Given the description of an element on the screen output the (x, y) to click on. 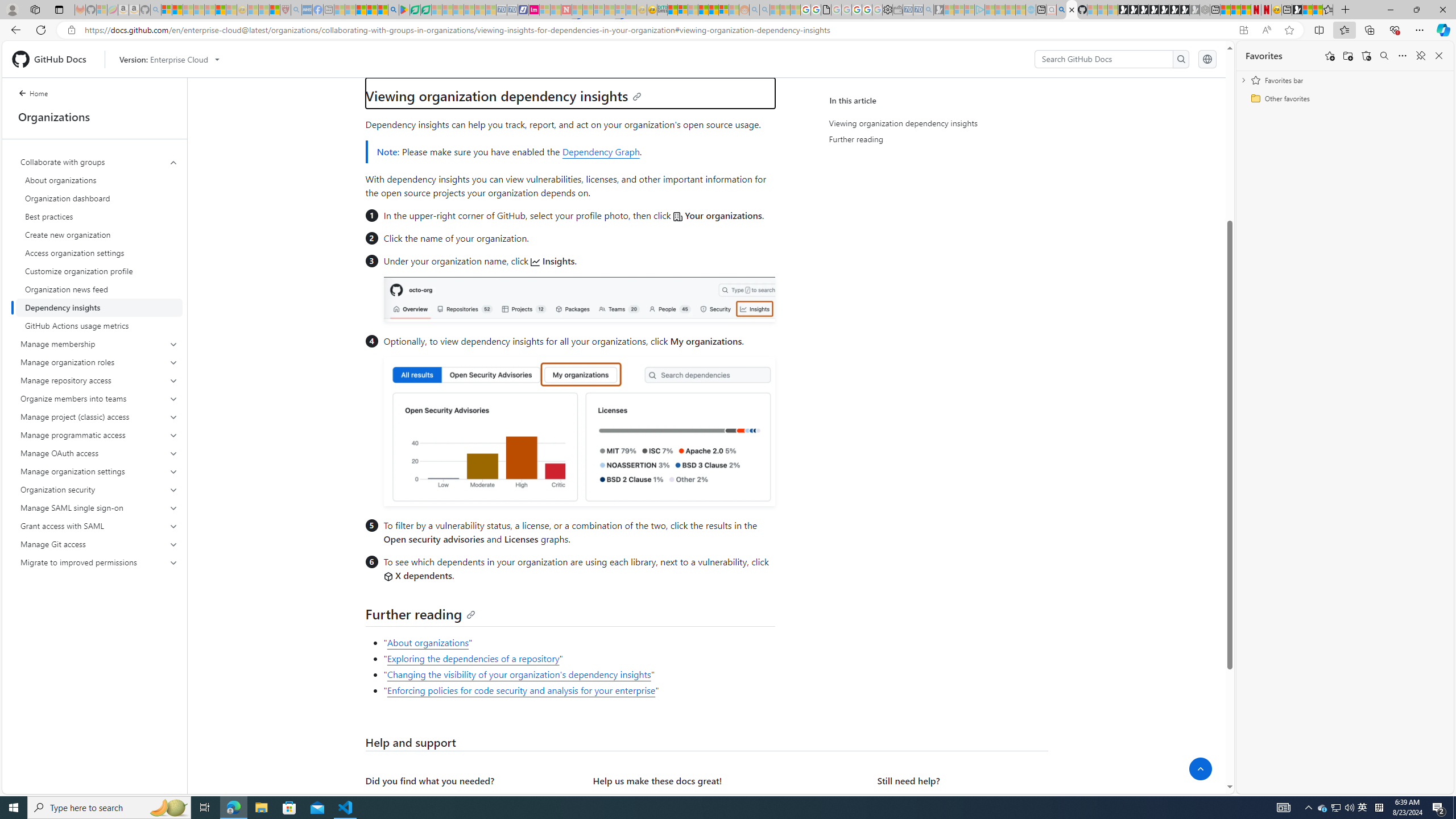
Setting up a trial of GitHub Enterprise Cloud (468, 56)
Manage programmatic access (99, 434)
Grant access with SAML (99, 525)
Dependency insights (99, 307)
Manage organization roles (99, 361)
github - Search (1061, 9)
Manage project (classic) access (99, 416)
Create new organization (99, 235)
